Given the description of an element on the screen output the (x, y) to click on. 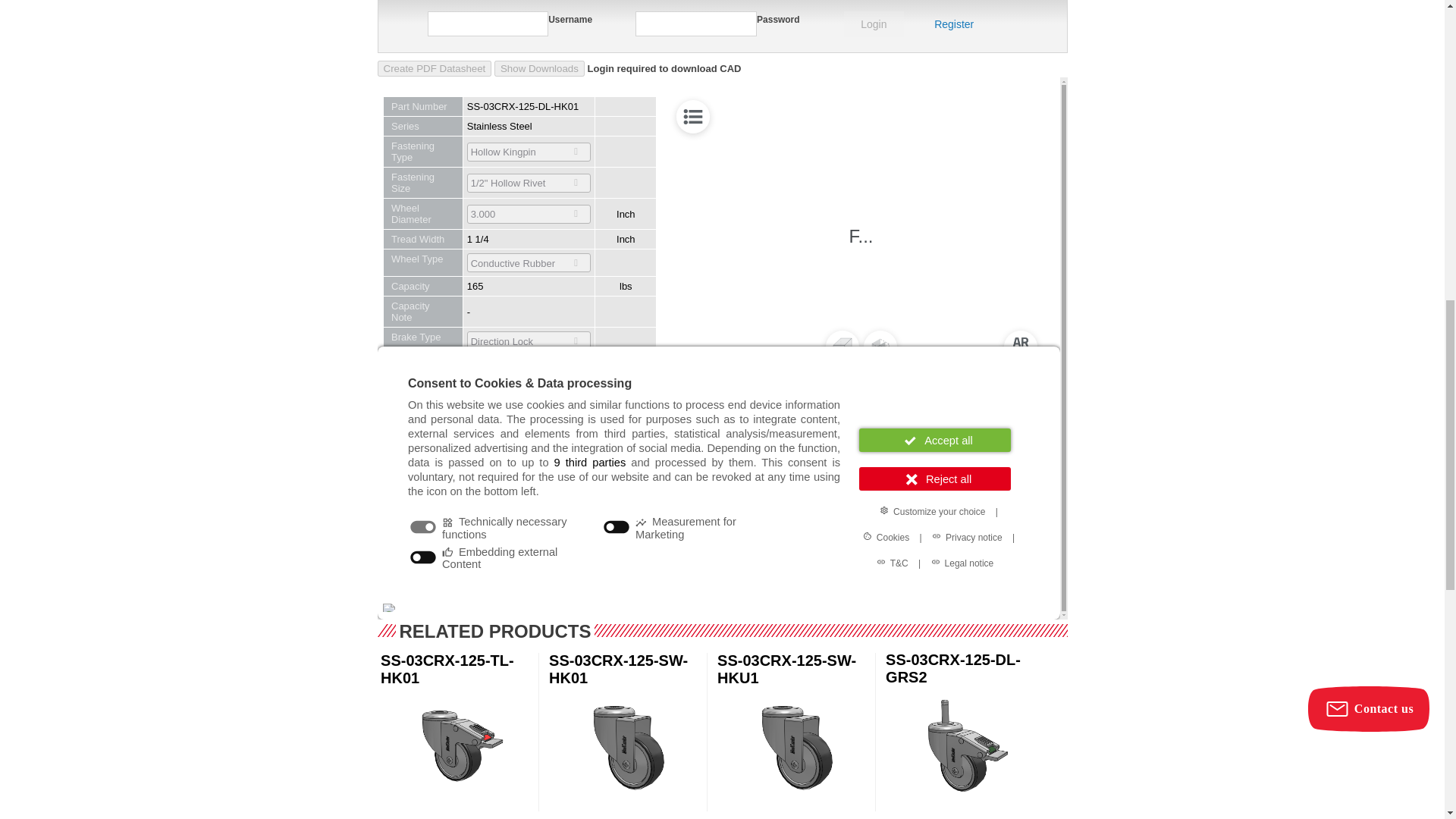
Show Downloads (540, 68)
Create PDF Datasheet (434, 68)
